Given the description of an element on the screen output the (x, y) to click on. 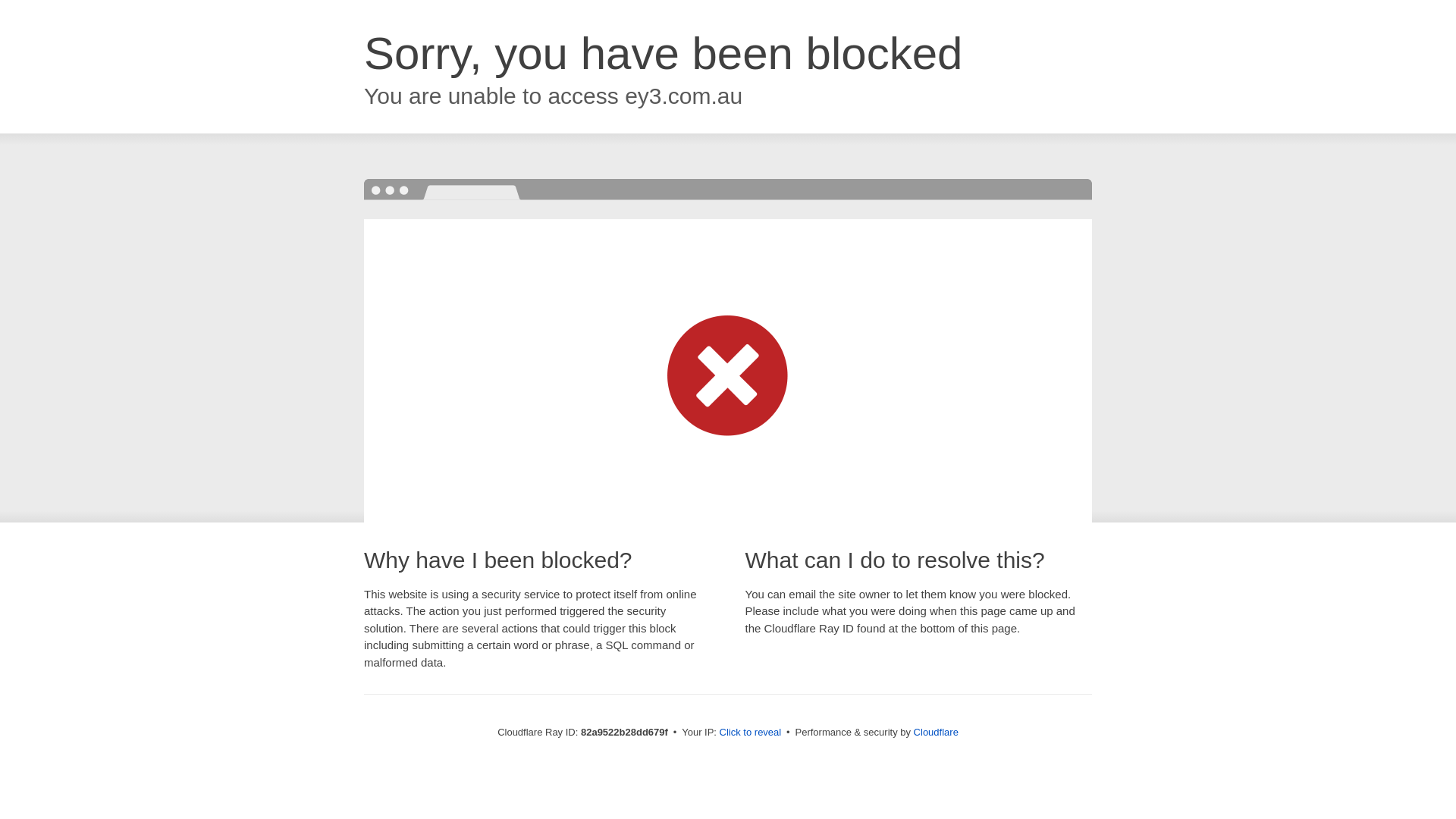
Cloudflare Element type: text (935, 731)
Click to reveal Element type: text (750, 732)
